Given the description of an element on the screen output the (x, y) to click on. 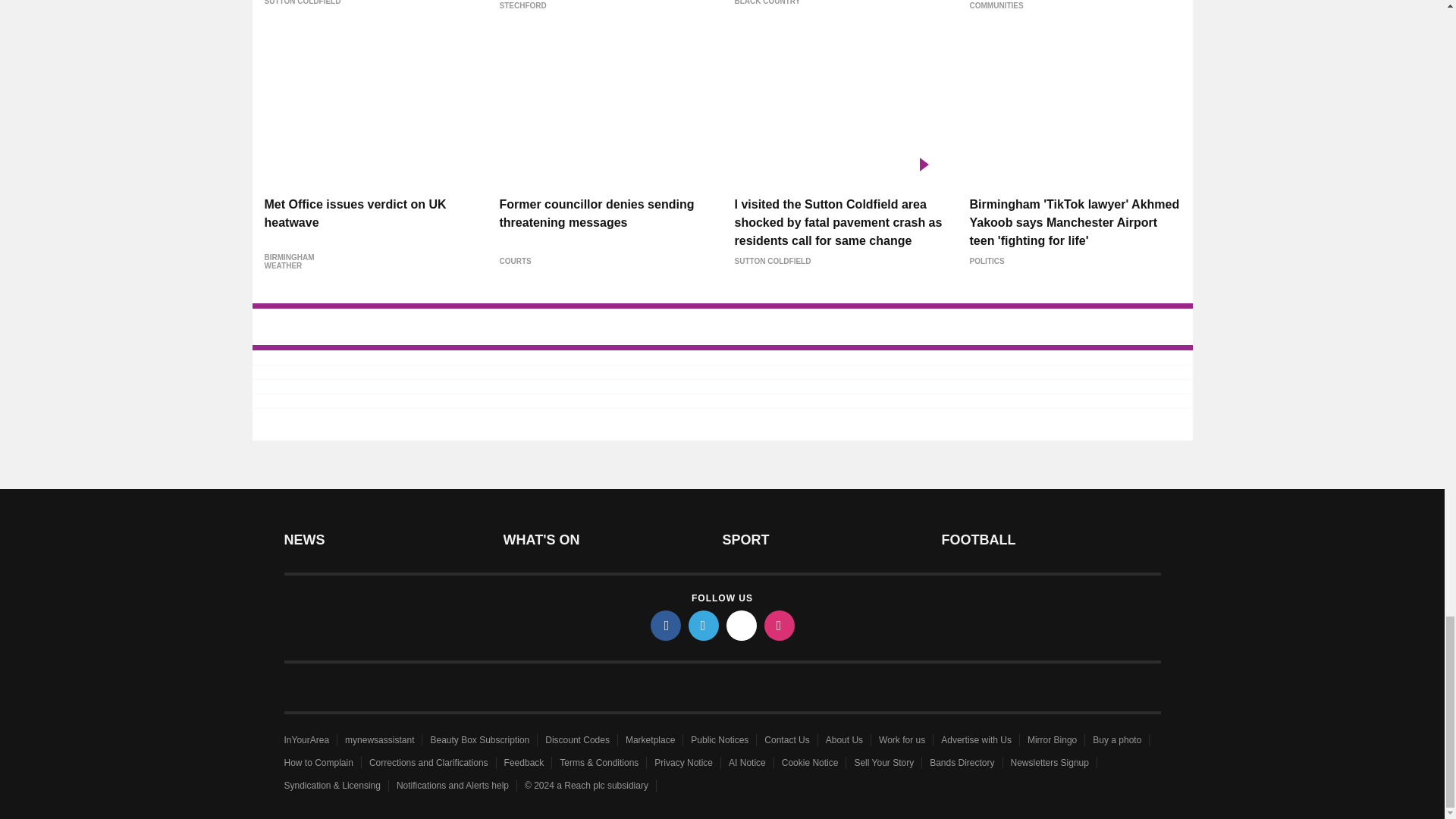
tiktok (741, 625)
instagram (779, 625)
twitter (703, 625)
facebook (665, 625)
